Given the description of an element on the screen output the (x, y) to click on. 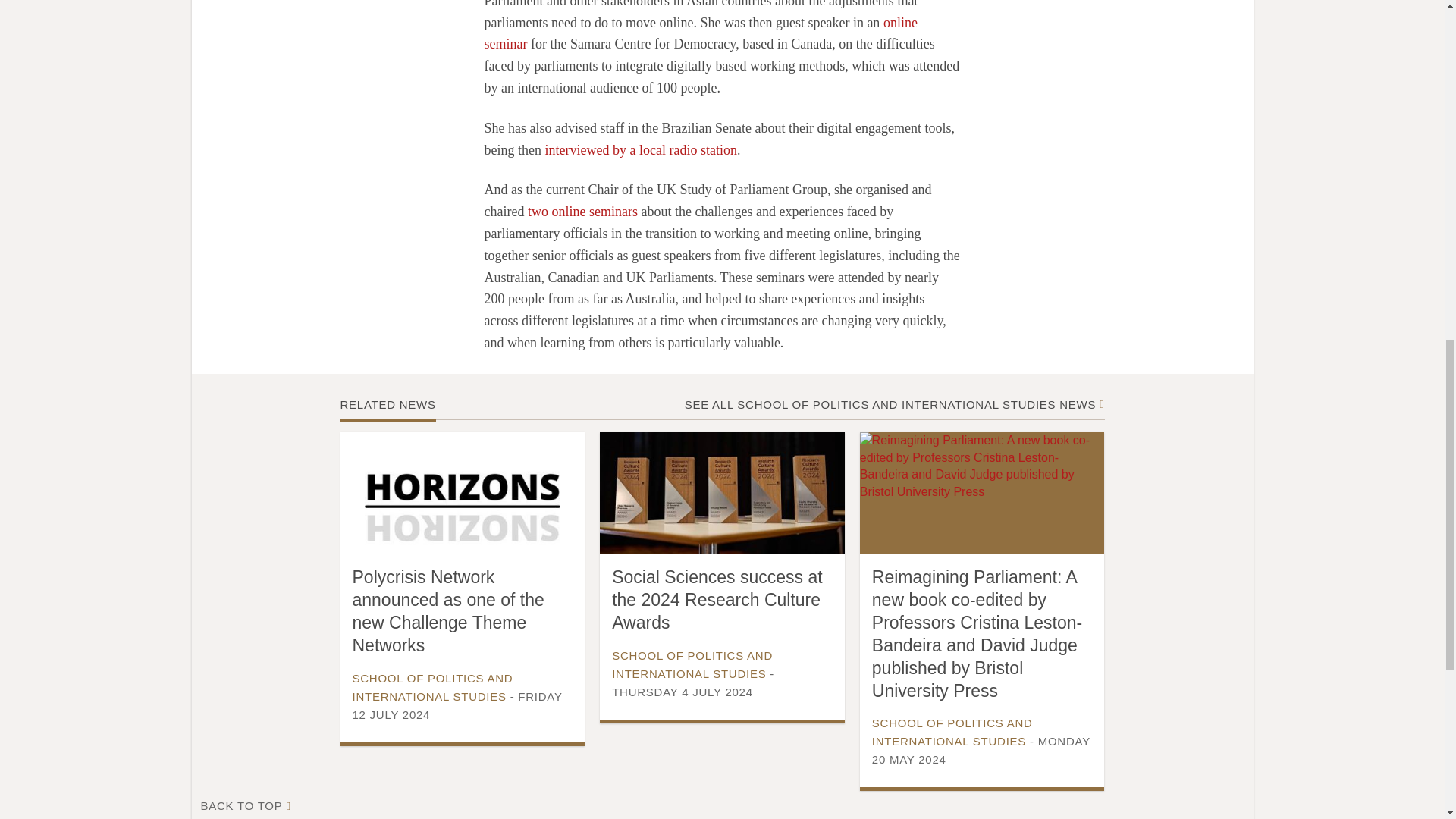
interviewed by a local radio station (640, 150)
Social Sciences success at the 2024 Research Culture Awards (716, 600)
SCHOOL OF POLITICS AND INTERNATIONAL STUDIES (432, 686)
online seminar (700, 33)
SCHOOL OF POLITICS AND INTERNATIONAL STUDIES (692, 664)
SEE ALL SCHOOL OF POLITICS AND INTERNATIONAL STUDIES NEWS (890, 404)
two online seminars (582, 211)
